Given the description of an element on the screen output the (x, y) to click on. 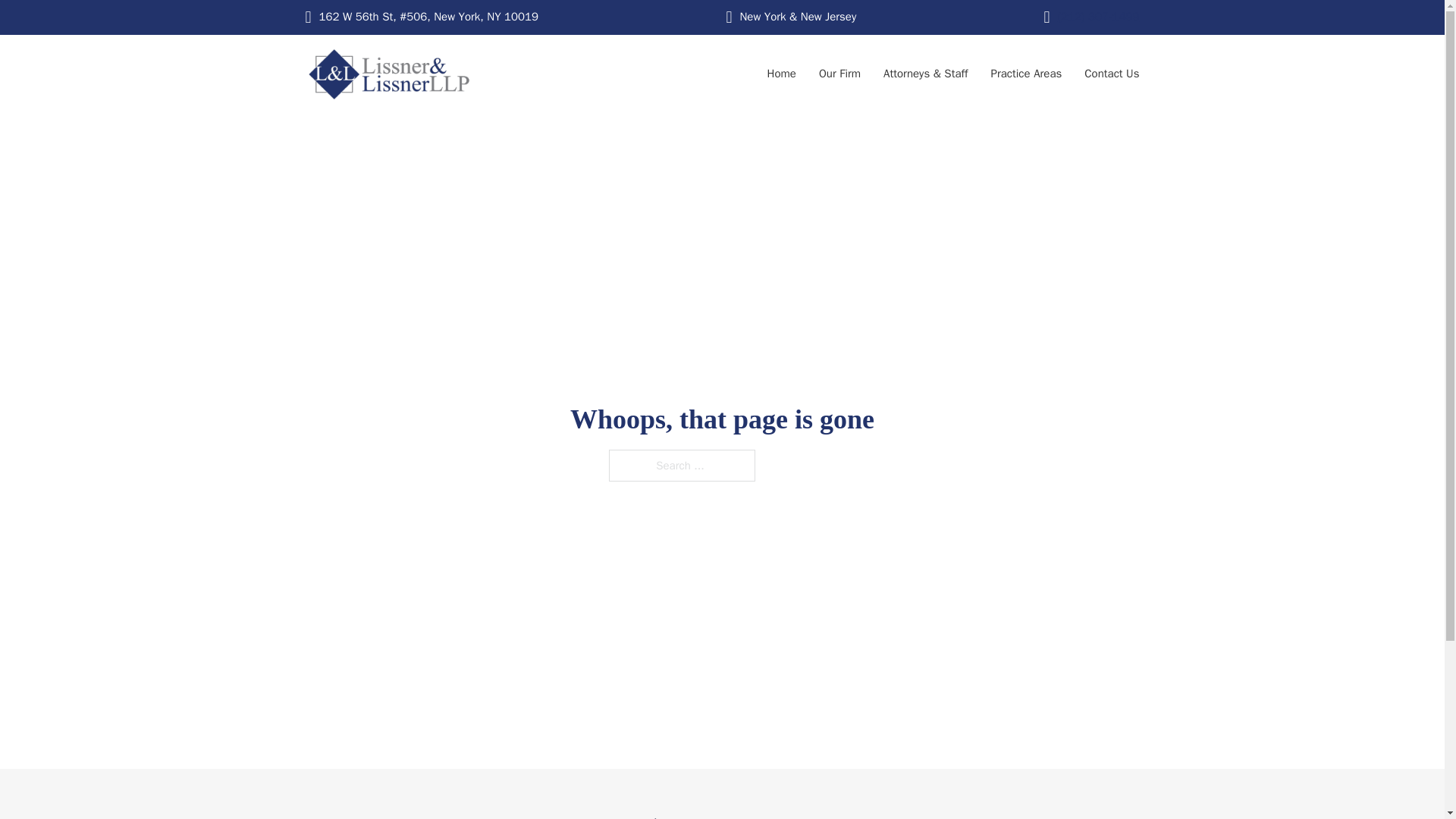
Contact Us (1111, 74)
Practice Areas (1026, 74)
Home (781, 74)
Our Firm (839, 74)
